Given the description of an element on the screen output the (x, y) to click on. 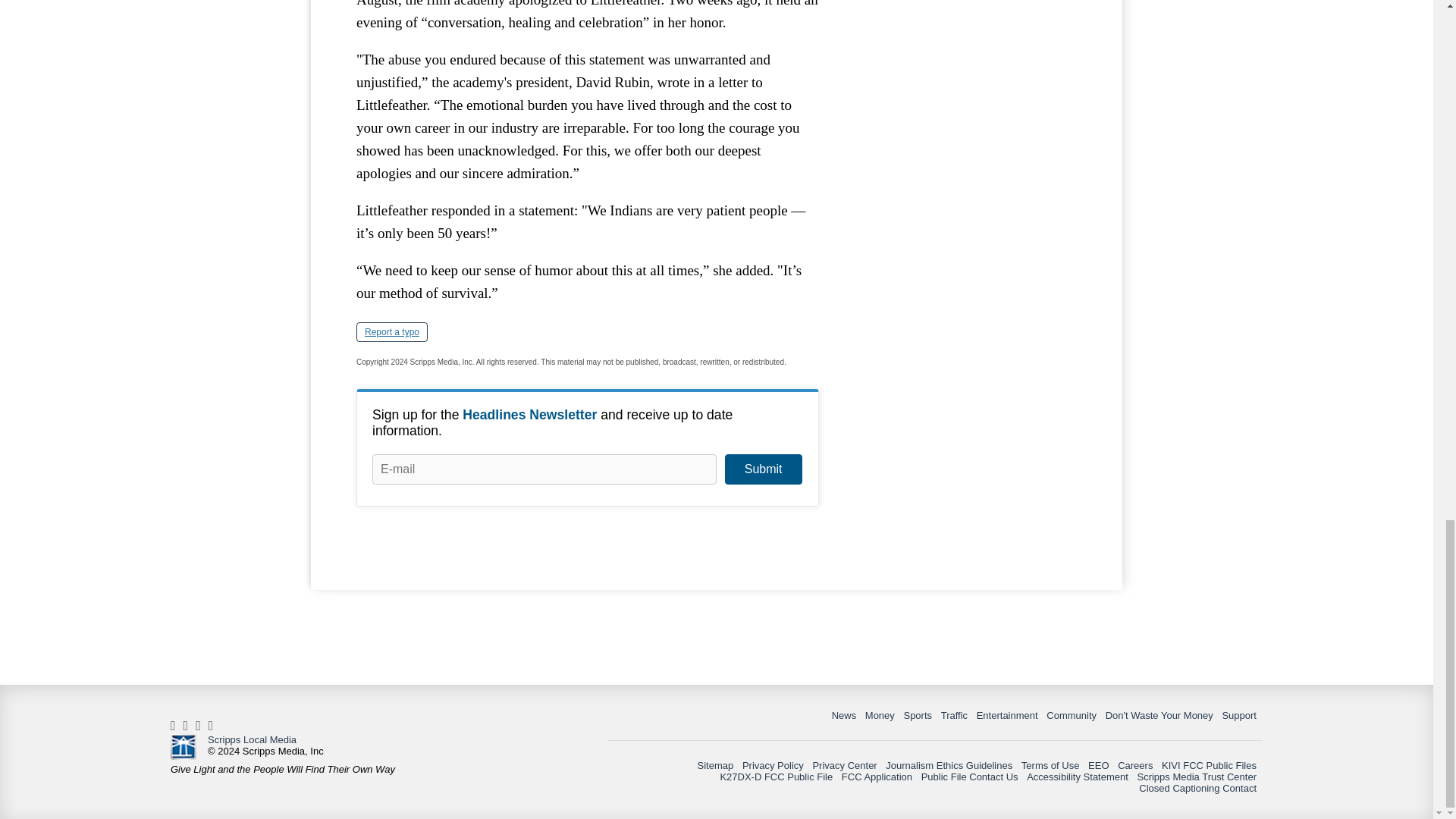
Submit (763, 469)
